Given the description of an element on the screen output the (x, y) to click on. 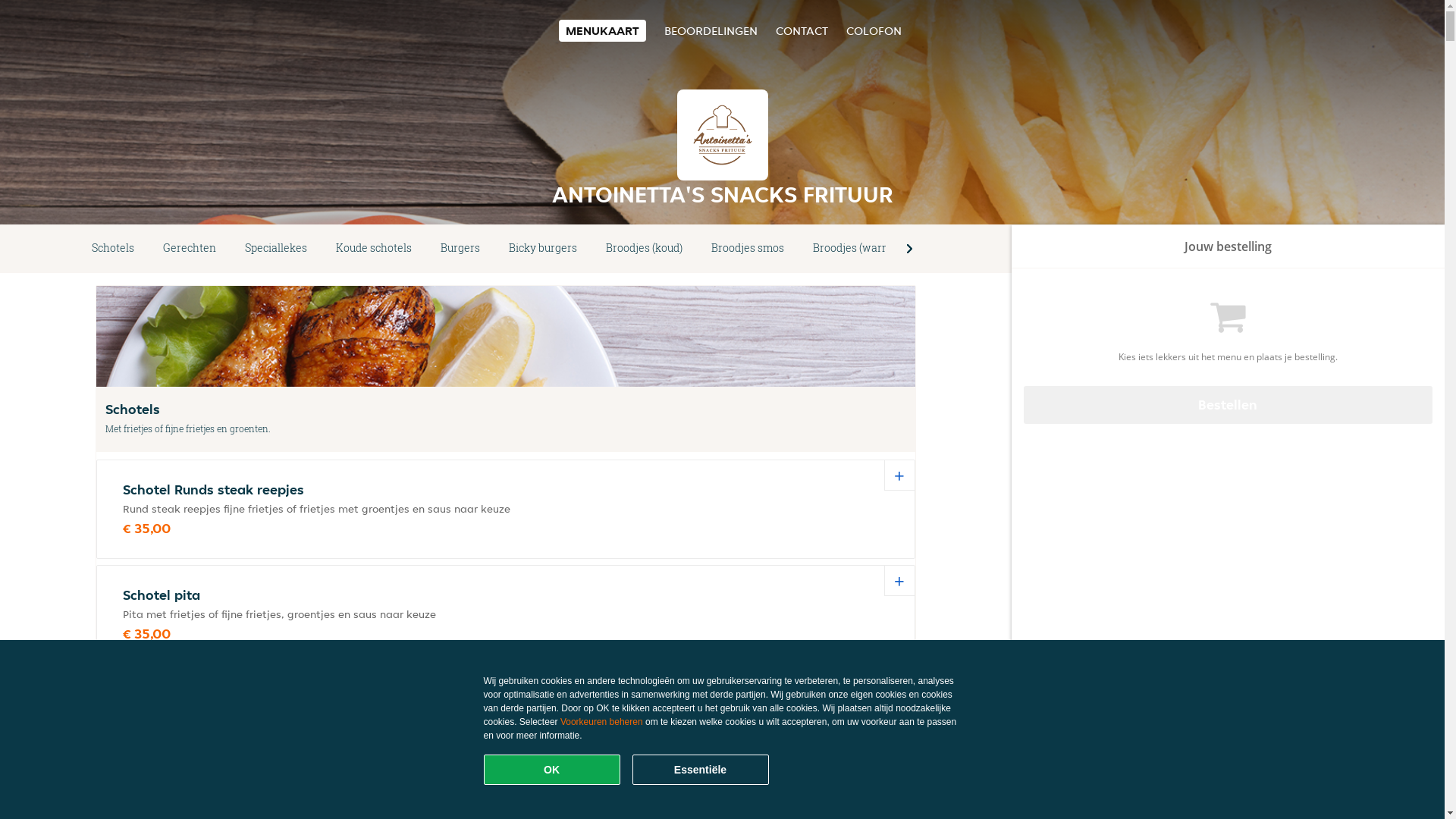
Broodjes smos Element type: text (747, 248)
BEOORDELINGEN Element type: text (710, 30)
Gerechten Element type: text (189, 248)
OK Element type: text (551, 769)
CONTACT Element type: text (801, 30)
COLOFON Element type: text (873, 30)
Schotels Element type: text (112, 248)
MENUKAART Element type: text (601, 30)
Broodjes (koud) Element type: text (643, 248)
Voorkeuren beheren Element type: text (601, 721)
Bestellen Element type: text (1228, 404)
Burgers Element type: text (460, 248)
Speciallekes Element type: text (275, 248)
Broodjes (warm) Element type: text (853, 248)
Koude schotels Element type: text (373, 248)
Bicky burgers Element type: text (542, 248)
